Given the description of an element on the screen output the (x, y) to click on. 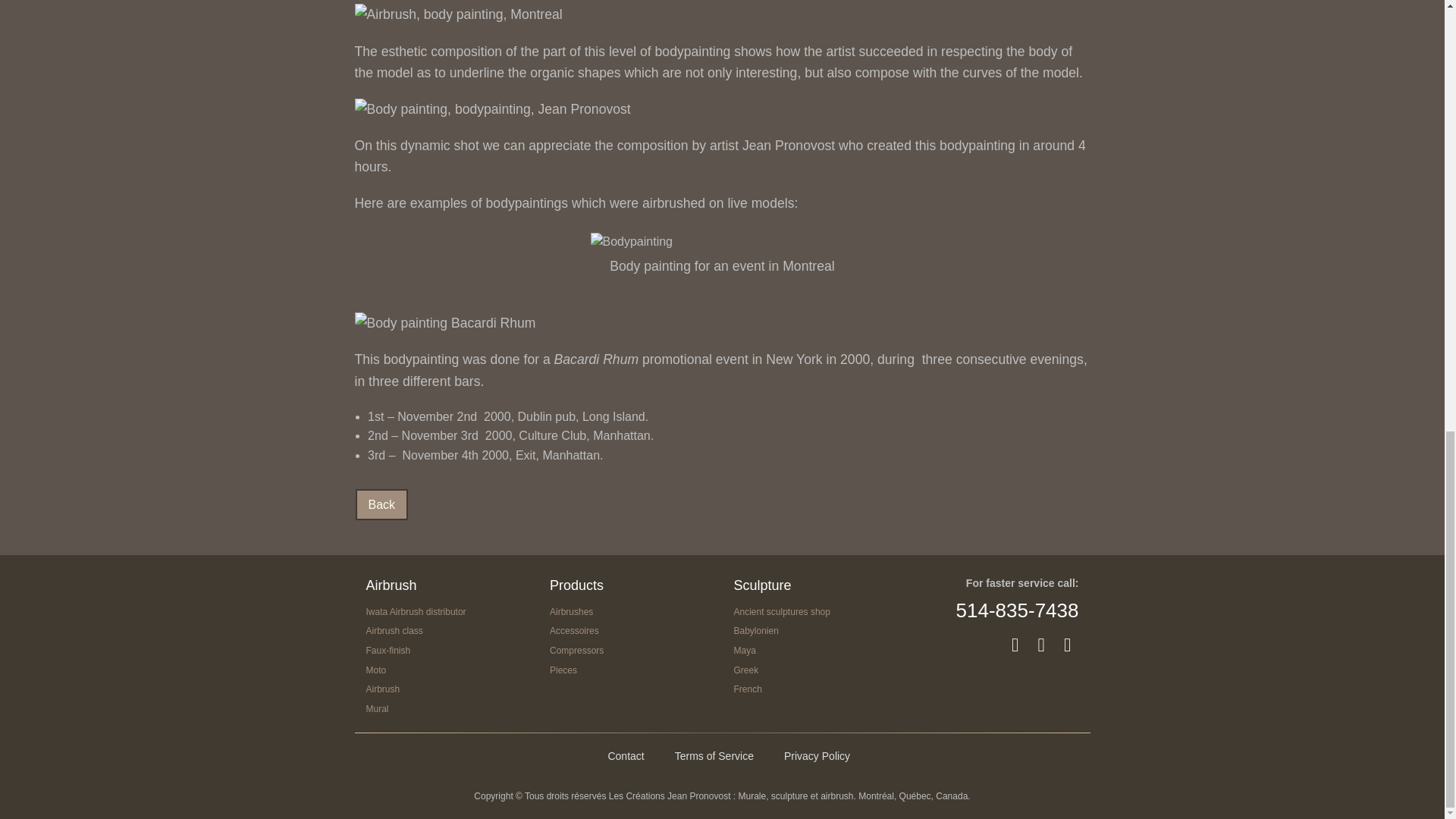
Accessoires (574, 630)
Moto (375, 670)
Faux-finish (387, 650)
Airbrush class (393, 630)
Mural (376, 708)
Airbrush (381, 688)
Iwata Airbrush distributor (415, 611)
Airbrushes (571, 611)
